Given the description of an element on the screen output the (x, y) to click on. 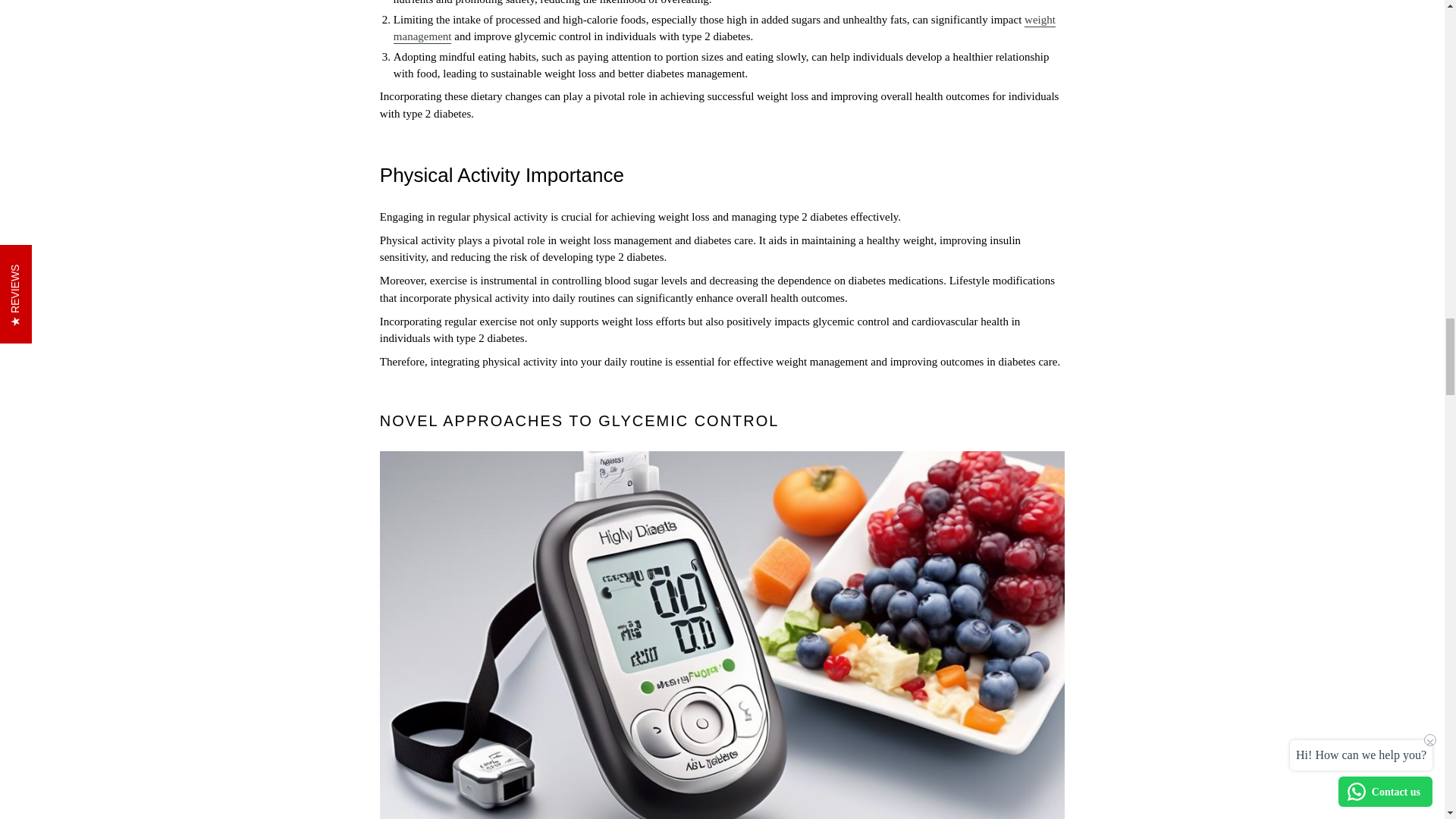
weight management (724, 29)
